Given the description of an element on the screen output the (x, y) to click on. 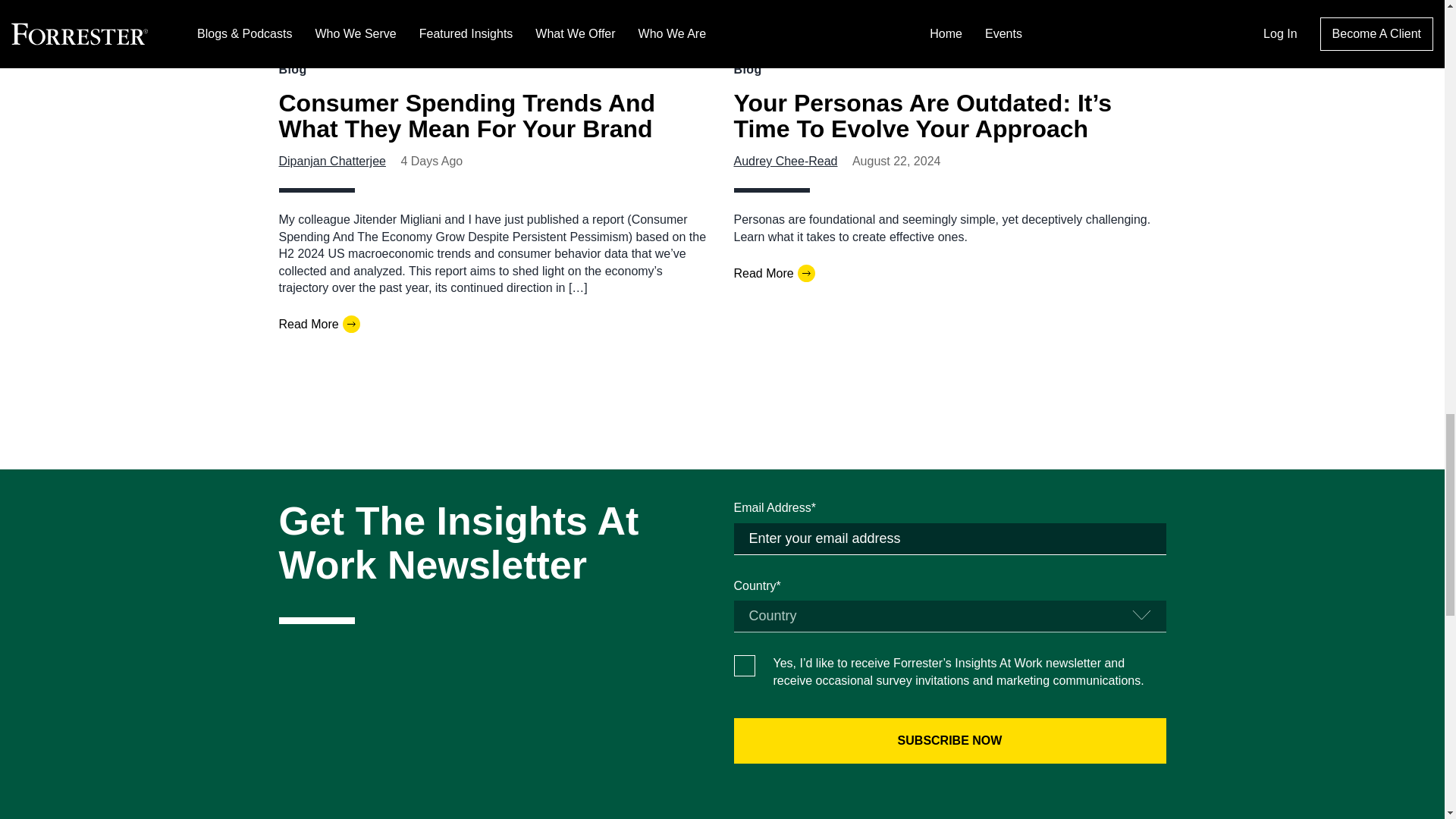
Dipanjan Chatterjee (332, 160)
Audrey Chee-Read (785, 160)
Subscribe Now (949, 740)
